Given the description of an element on the screen output the (x, y) to click on. 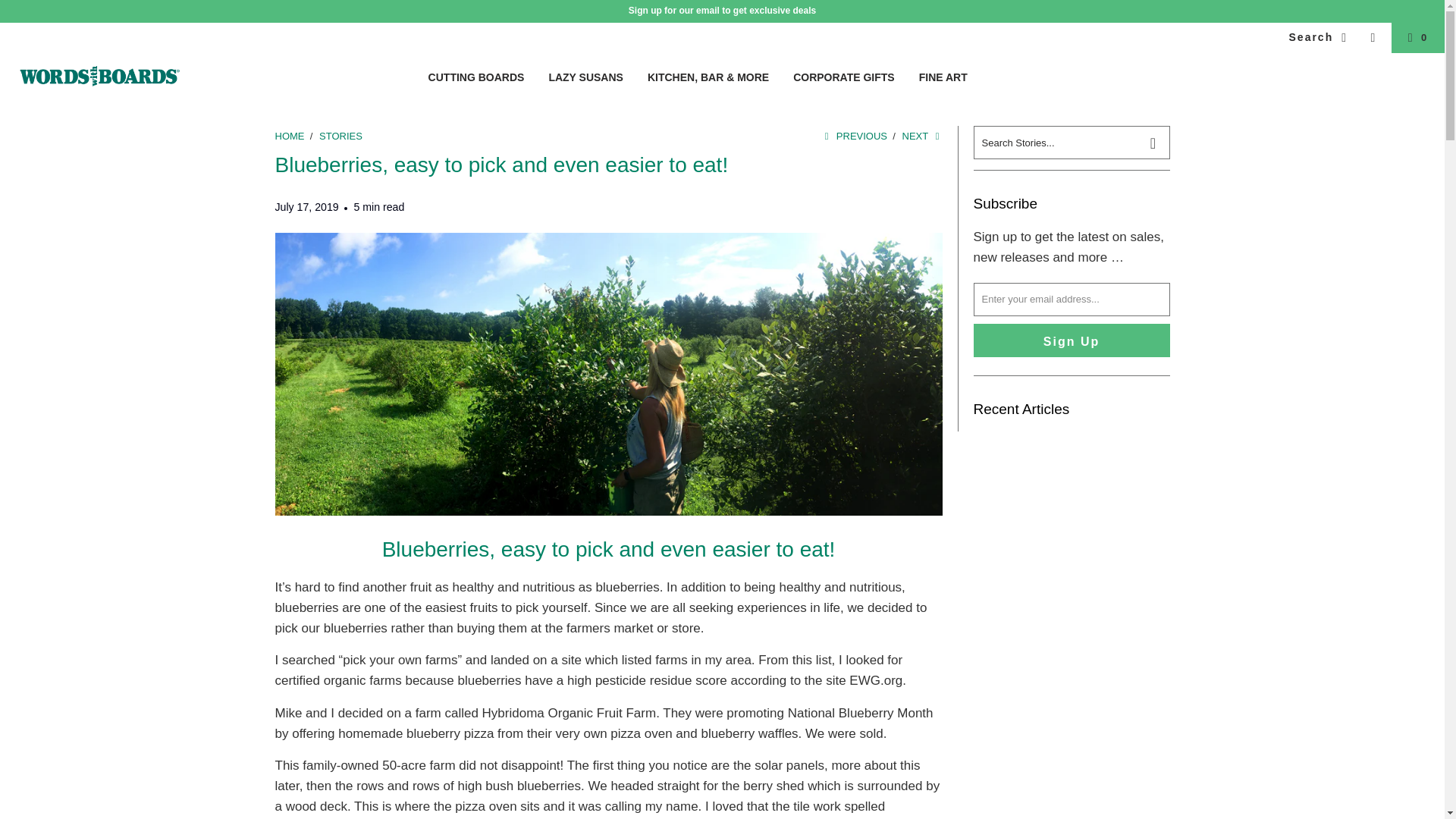
My Account  (1373, 37)
Words with Boards, LLC (291, 135)
LAZY SUSANS (585, 77)
Words with Boards, LLC (98, 77)
FINE ART (943, 77)
Sign Up (1072, 340)
CUTTING BOARDS (476, 77)
CORPORATE GIFTS (844, 77)
Stories (340, 135)
